Given the description of an element on the screen output the (x, y) to click on. 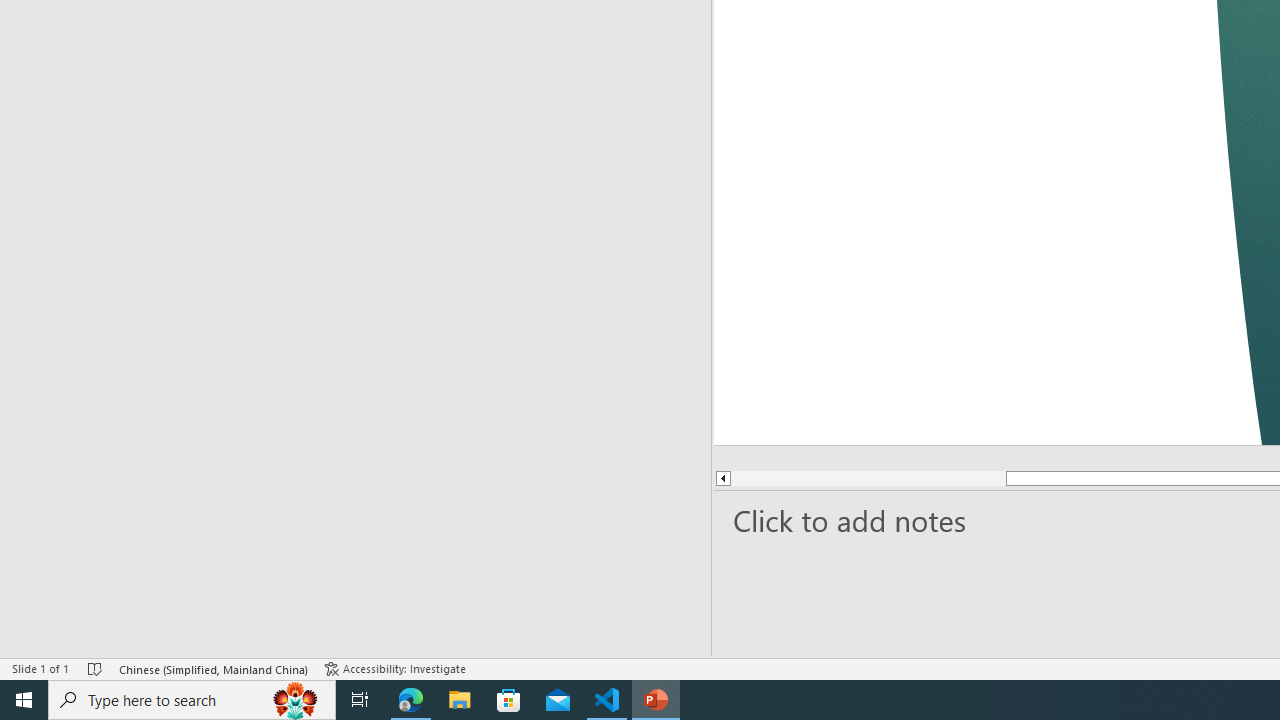
Spell Check No Errors (95, 668)
Line up (722, 478)
Page up (868, 478)
Accessibility Checker Accessibility: Investigate (397, 668)
